Given the description of an element on the screen output the (x, y) to click on. 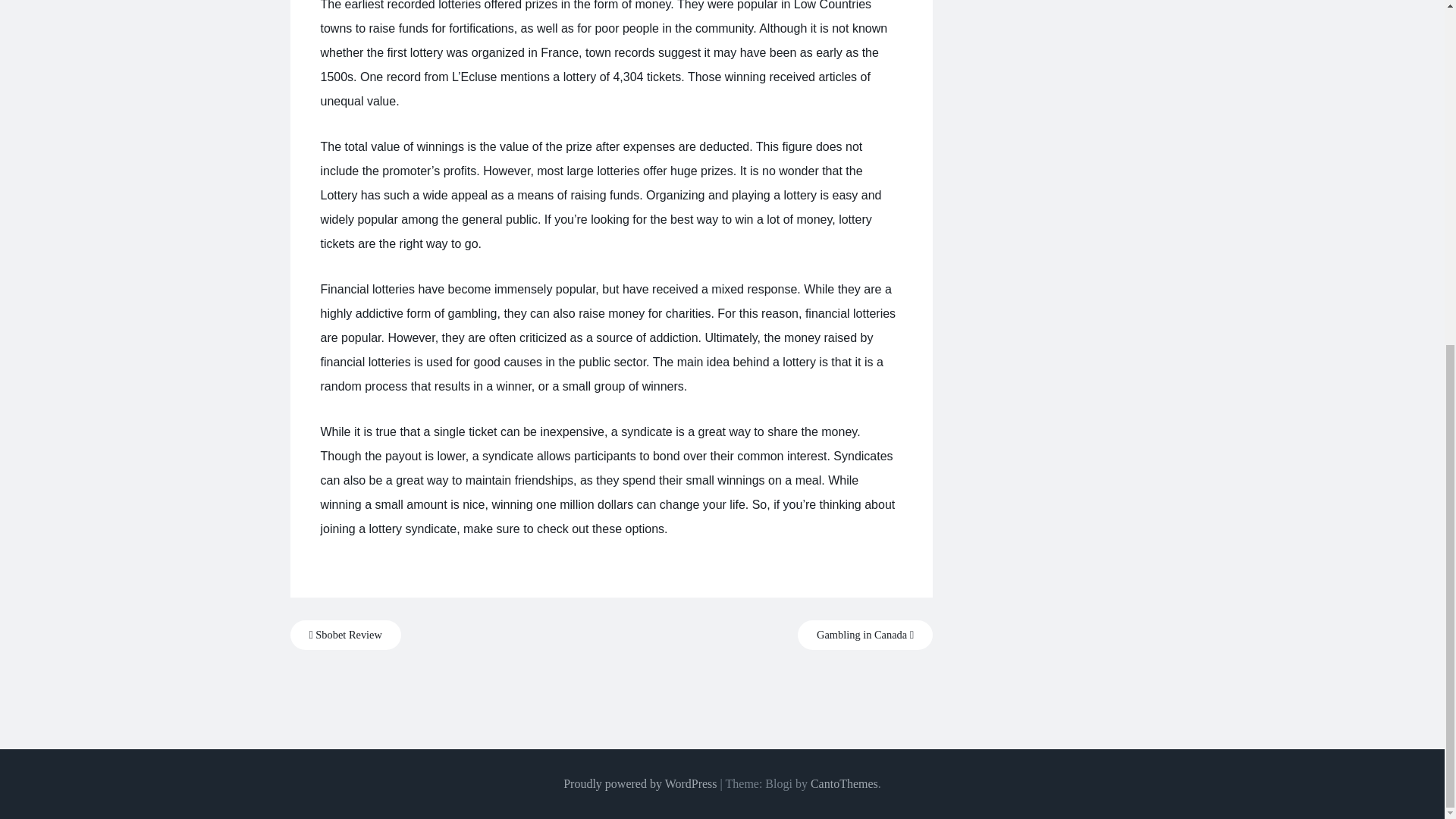
Sbobet Review (344, 634)
CantoThemes (843, 783)
Gambling in Canada (865, 634)
Proudly powered by WordPress (639, 783)
